Given the description of an element on the screen output the (x, y) to click on. 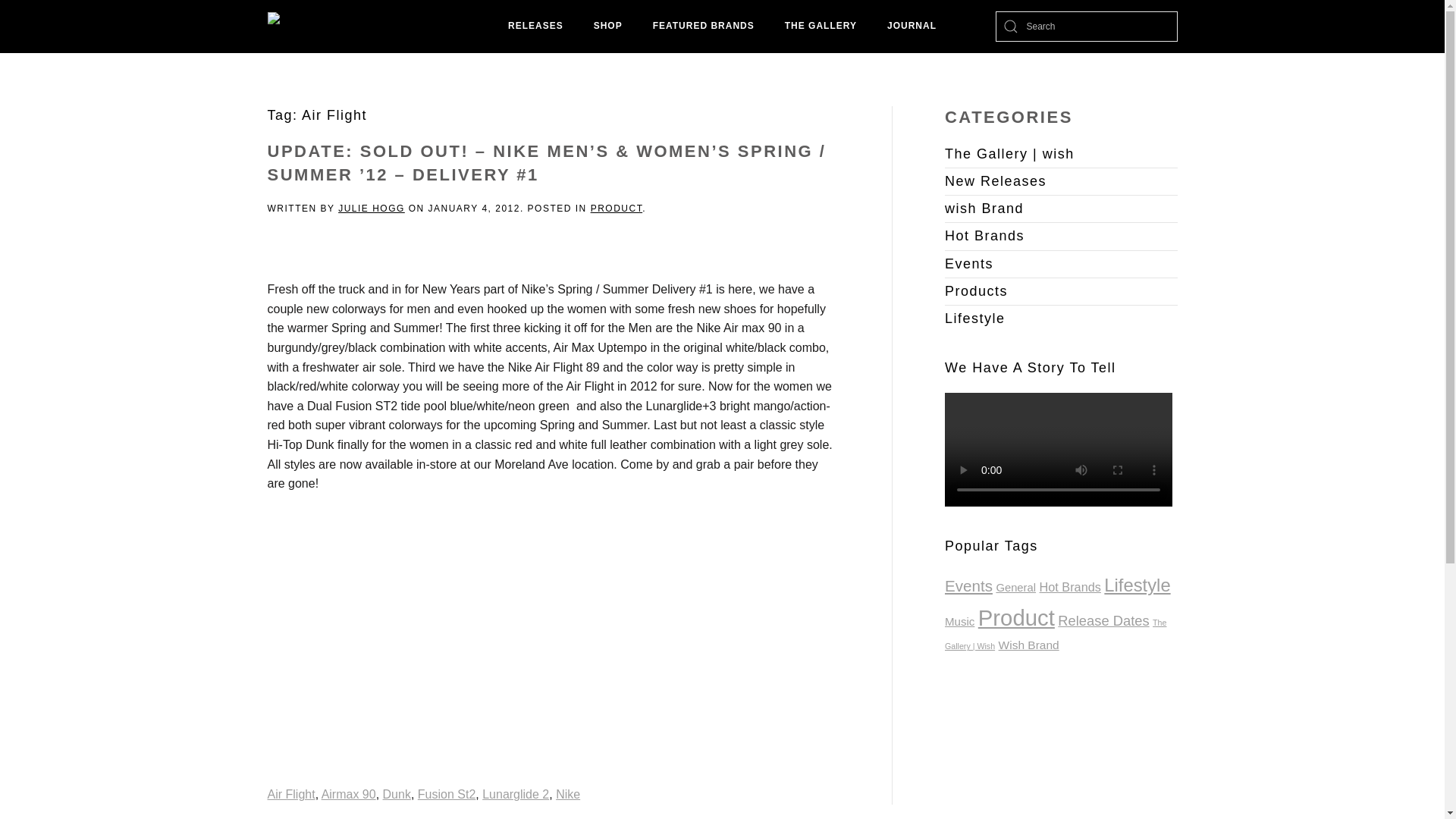
Products (1060, 291)
Airmax 90 (348, 793)
FEATURED BRANDS (703, 26)
Product (1016, 617)
Nike (567, 793)
Release Dates (1103, 620)
Events (968, 585)
General (1015, 587)
Air Flight (290, 793)
SHOP (607, 26)
Hot Brands (1060, 235)
Music (959, 621)
RELEASES (535, 26)
JOURNAL (912, 26)
Lunarglide 2 (514, 793)
